Given the description of an element on the screen output the (x, y) to click on. 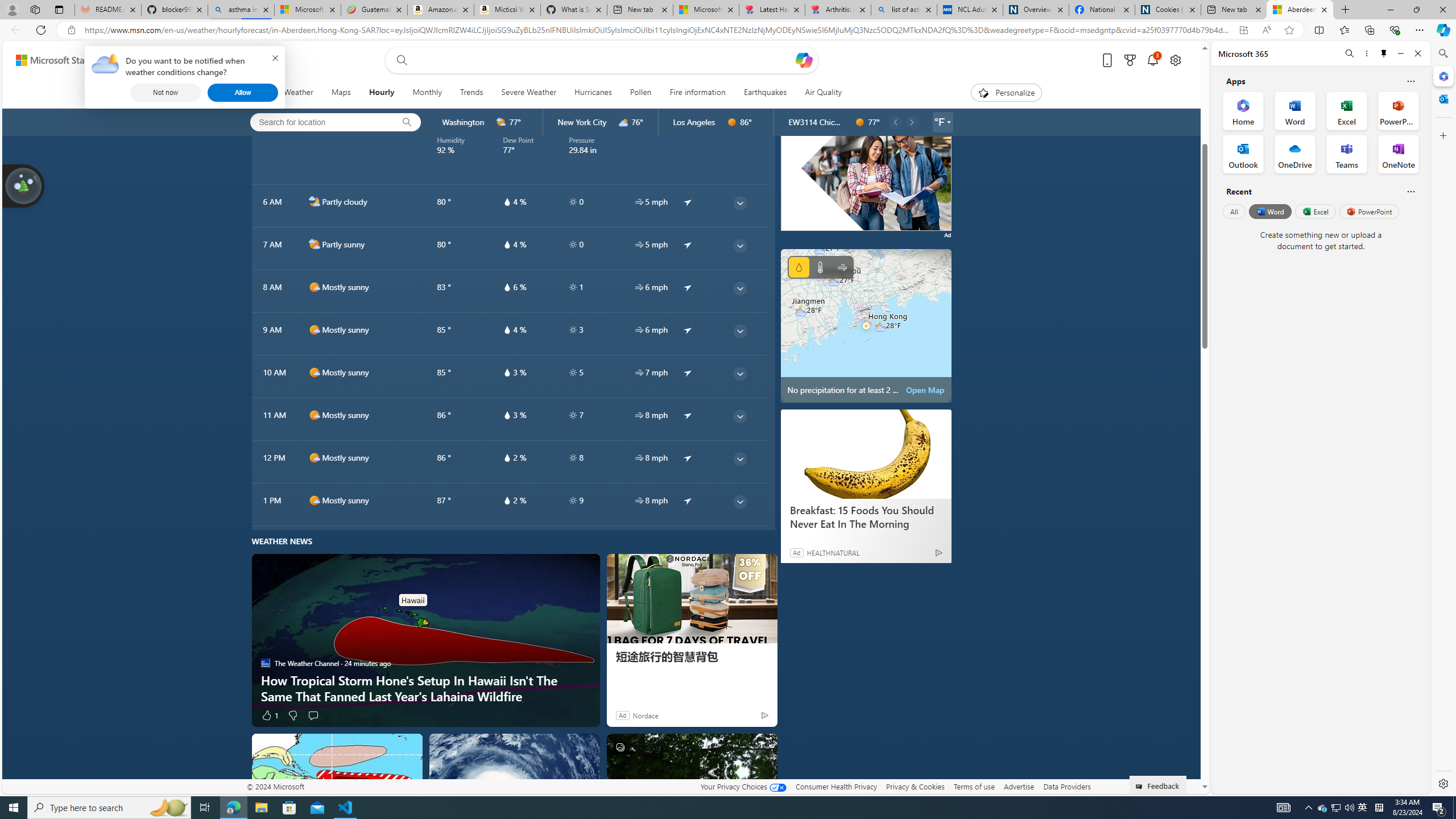
Maps (340, 92)
